Given the description of an element on the screen output the (x, y) to click on. 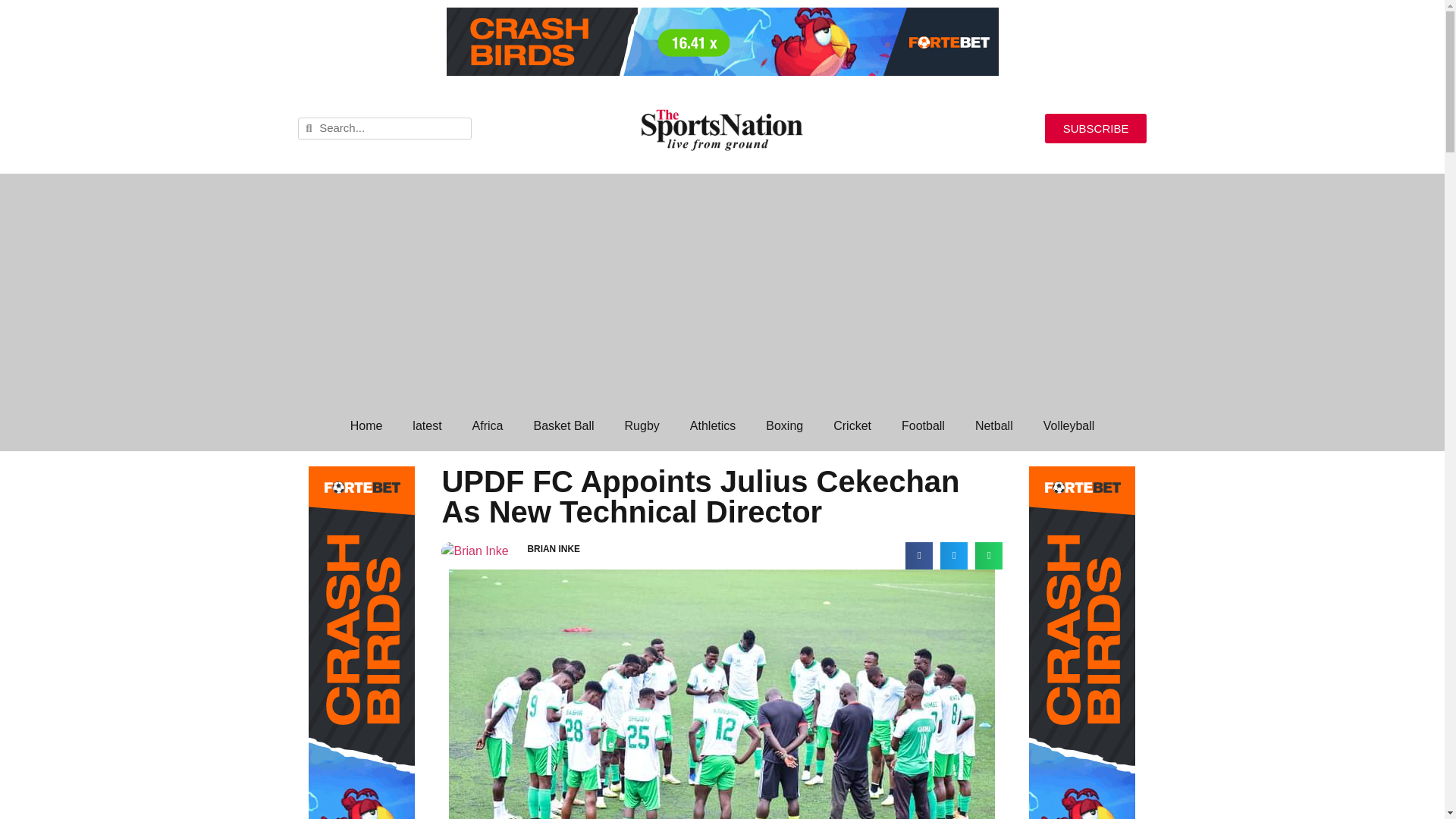
Home (365, 425)
Boxing (784, 425)
Basket Ball (564, 425)
Volleyball (1068, 425)
Cricket (852, 425)
latest (427, 425)
Africa (487, 425)
Athletics (713, 425)
Rugby (642, 425)
Football (922, 425)
Netball (993, 425)
SUBSCRIBE (1096, 128)
